Given the description of an element on the screen output the (x, y) to click on. 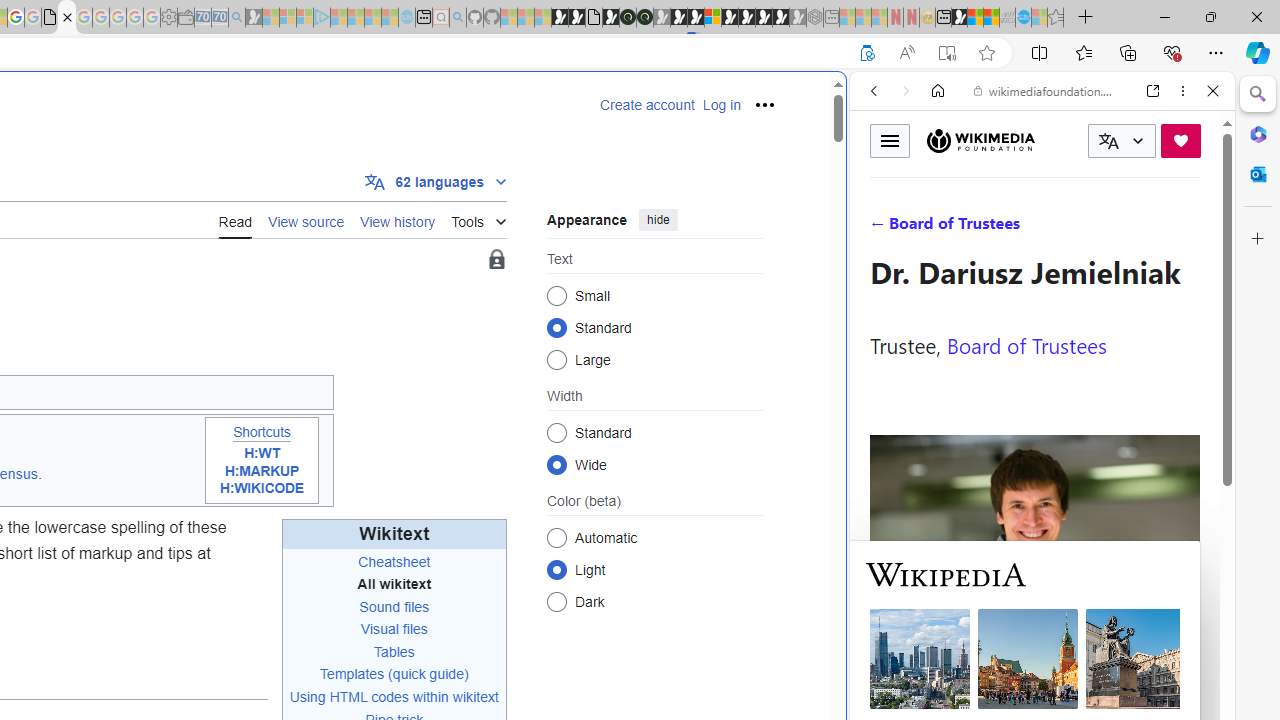
Shortcuts (261, 431)
Log in (721, 105)
Page semi-protected (496, 259)
Search or enter web address (343, 191)
Using HTML codes within wikitext (394, 696)
Help:Wikitext - Wikipedia (66, 17)
Earth has six continents not seven, radical new study claims (991, 17)
Read (235, 219)
